Given the description of an element on the screen output the (x, y) to click on. 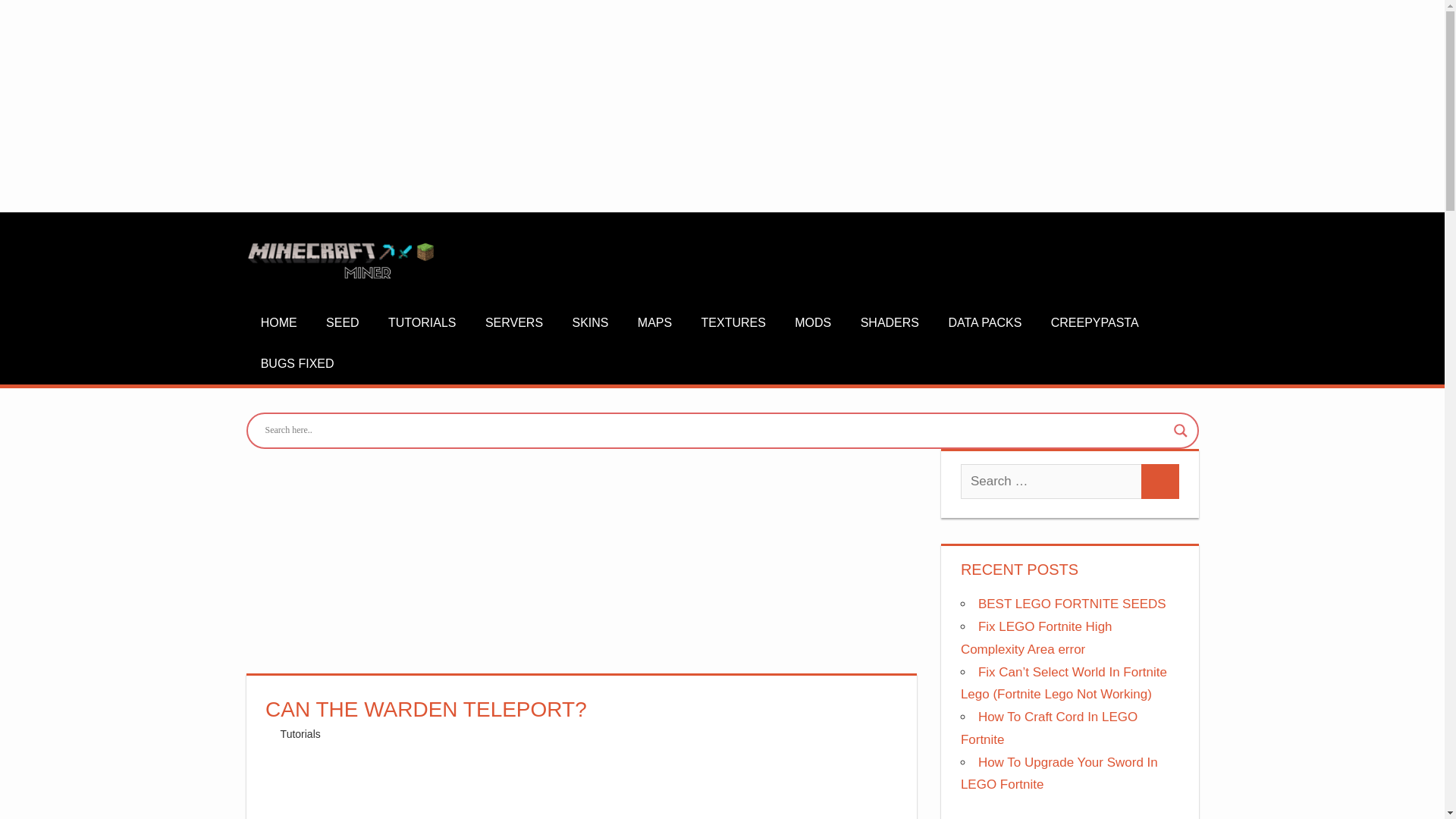
SKINS (590, 323)
NikoKostaZapater (323, 734)
Fix LEGO Fortnite High Complexity Area error (1036, 637)
CREEPYPASTA (1094, 323)
TUTORIALS (422, 323)
MAPS (655, 323)
HOME (278, 323)
BUGS FIXED (296, 363)
BEST LEGO FORTNITE SEEDS (1072, 603)
5:55 pm (324, 734)
Search for: (1050, 481)
SERVERS (513, 323)
Advertisement (581, 785)
MODS (812, 323)
Leave a comment (392, 734)
